Given the description of an element on the screen output the (x, y) to click on. 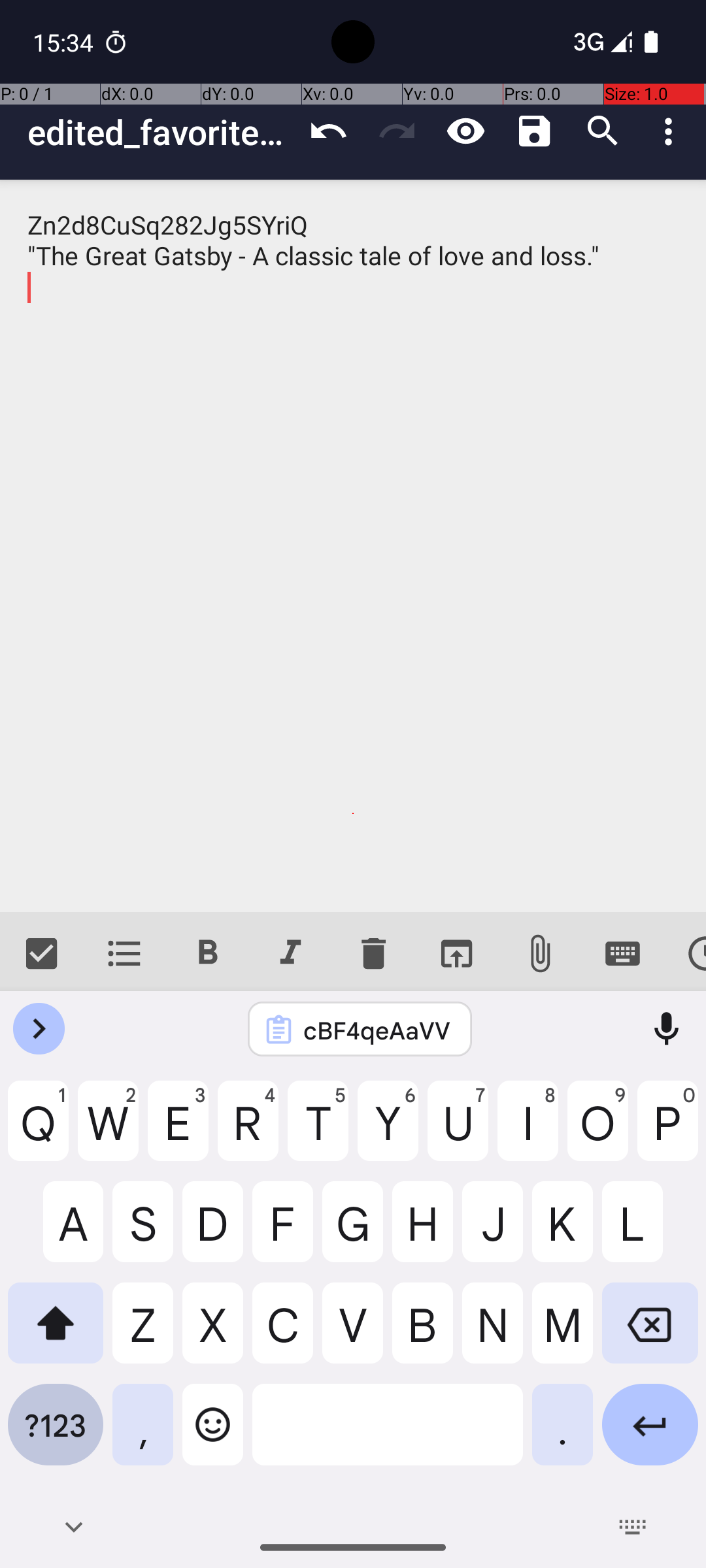
edited_favorite_book_quotes Element type: android.widget.TextView (160, 131)
Zn2d8CuSq282Jg5SYriQ
"The Great Gatsby - A classic tale of love and loss."
 Element type: android.widget.EditText (353, 545)
cBF4qeAaVV Element type: android.widget.TextView (377, 1029)
